Given the description of an element on the screen output the (x, y) to click on. 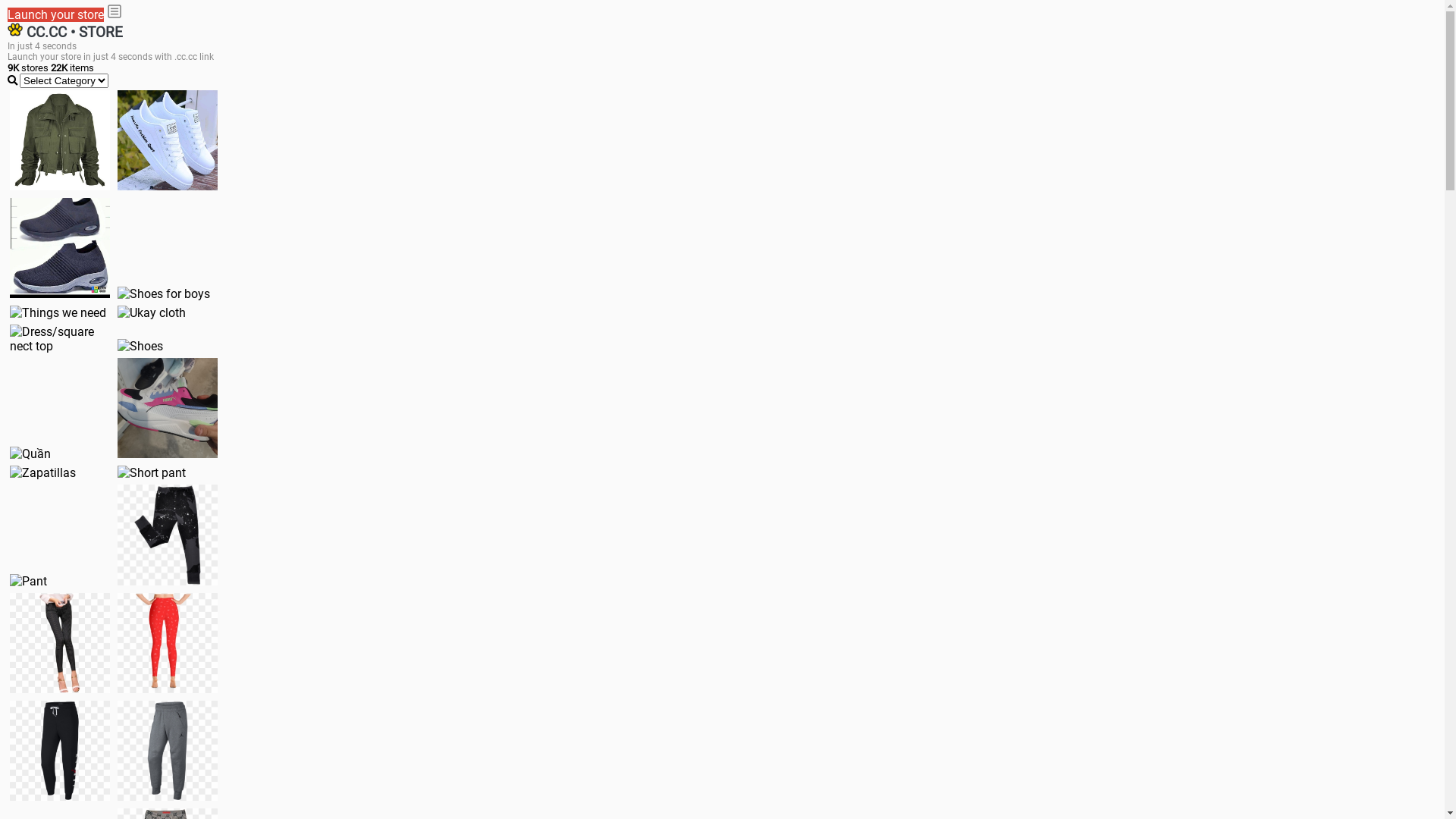
Short pant Element type: hover (151, 472)
jacket Element type: hover (59, 140)
Shoes Element type: hover (140, 345)
Things we need Element type: hover (57, 312)
Pant Element type: hover (167, 750)
Ukay cloth Element type: hover (151, 312)
Pant Element type: hover (59, 643)
Pant Element type: hover (28, 580)
shoes for boys Element type: hover (59, 247)
Pant Element type: hover (167, 534)
Zapatillas pumas Element type: hover (167, 407)
Launch your store Element type: text (55, 14)
white shoes Element type: hover (167, 140)
Zapatillas Element type: hover (42, 472)
Dress/square nect top Element type: hover (59, 338)
Pant Element type: hover (59, 750)
Pant Element type: hover (167, 643)
Shoes for boys Element type: hover (163, 293)
